Given the description of an element on the screen output the (x, y) to click on. 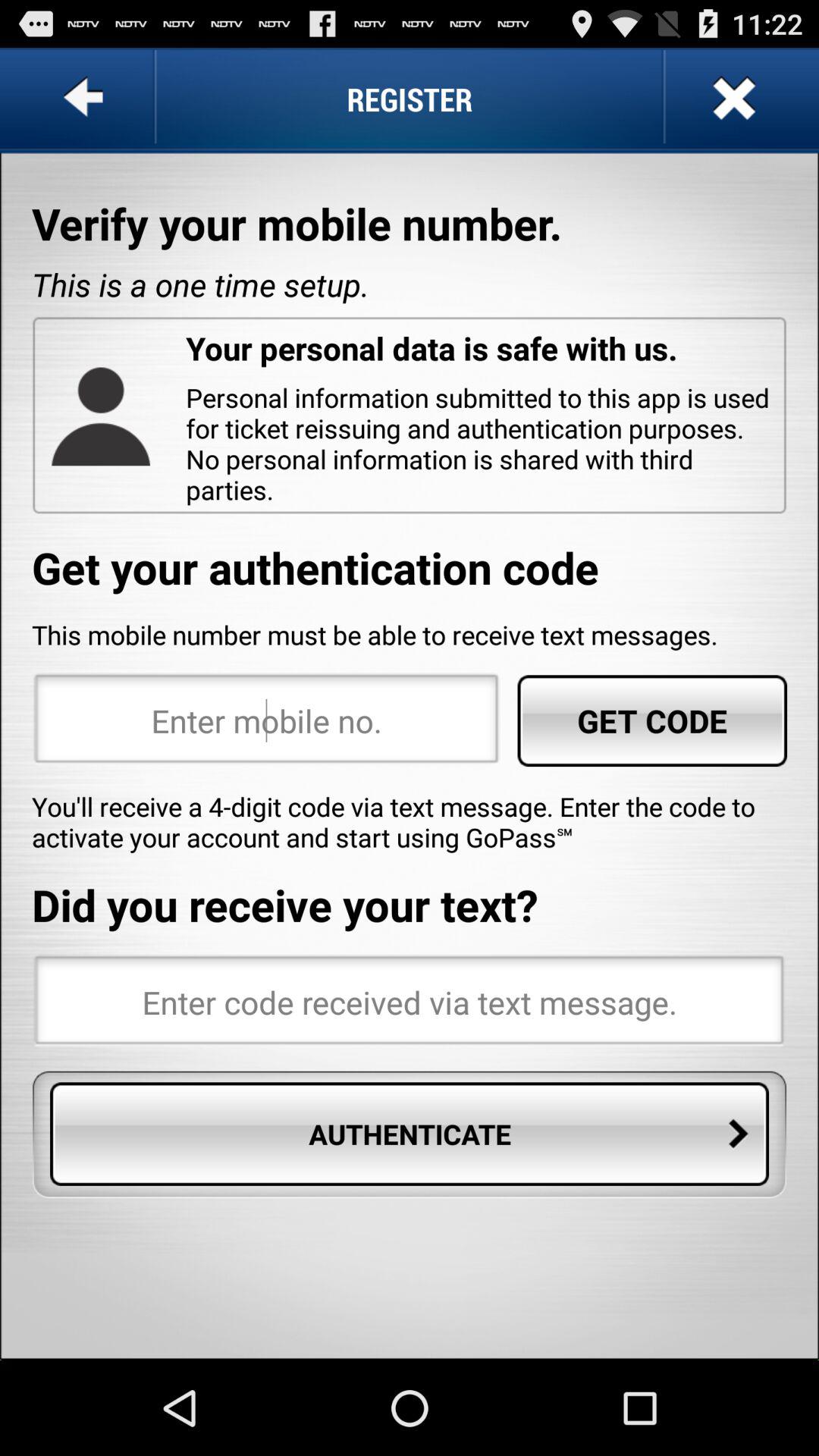
go back (86, 99)
